Given the description of an element on the screen output the (x, y) to click on. 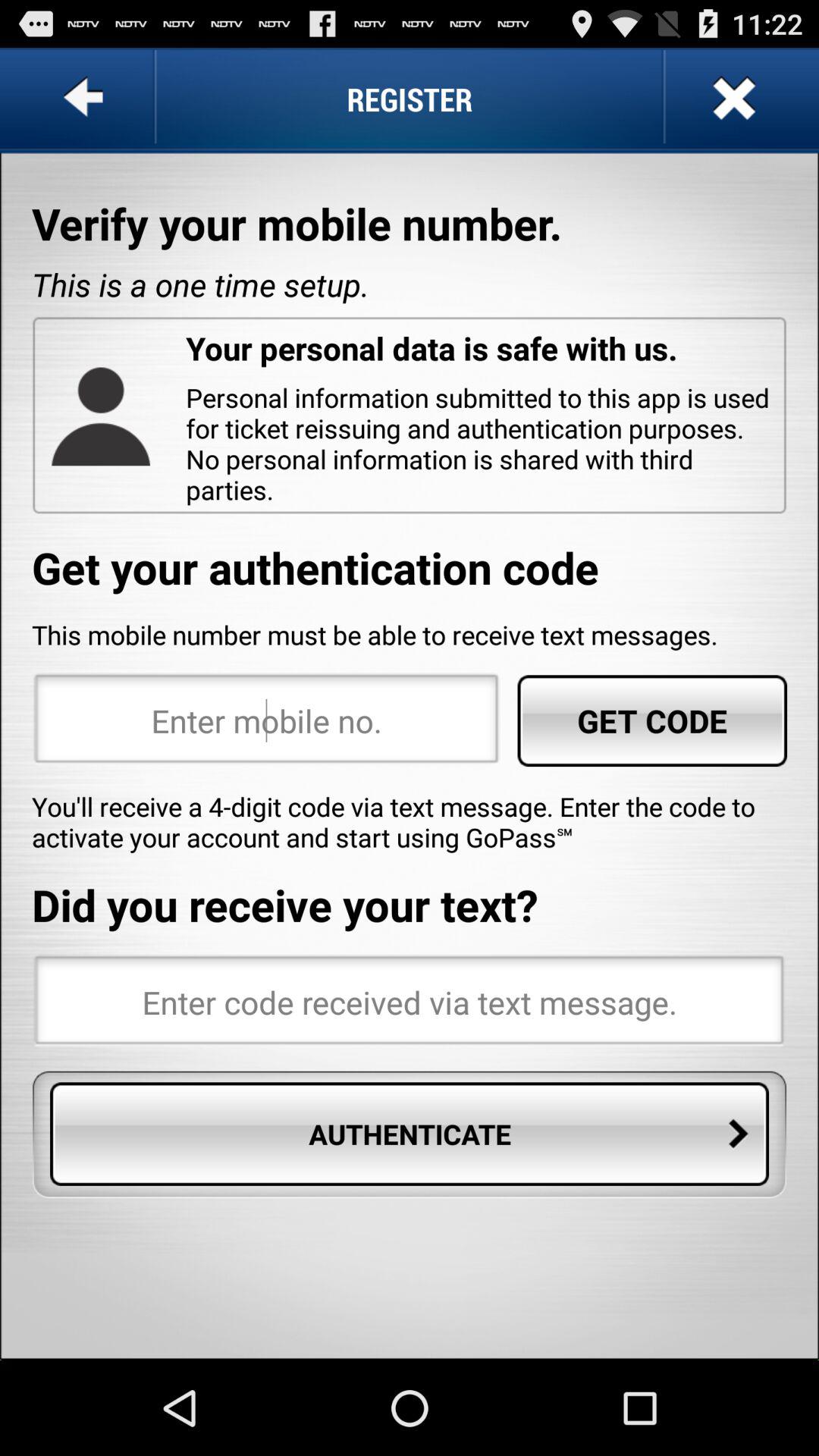
go back (86, 99)
